Given the description of an element on the screen output the (x, y) to click on. 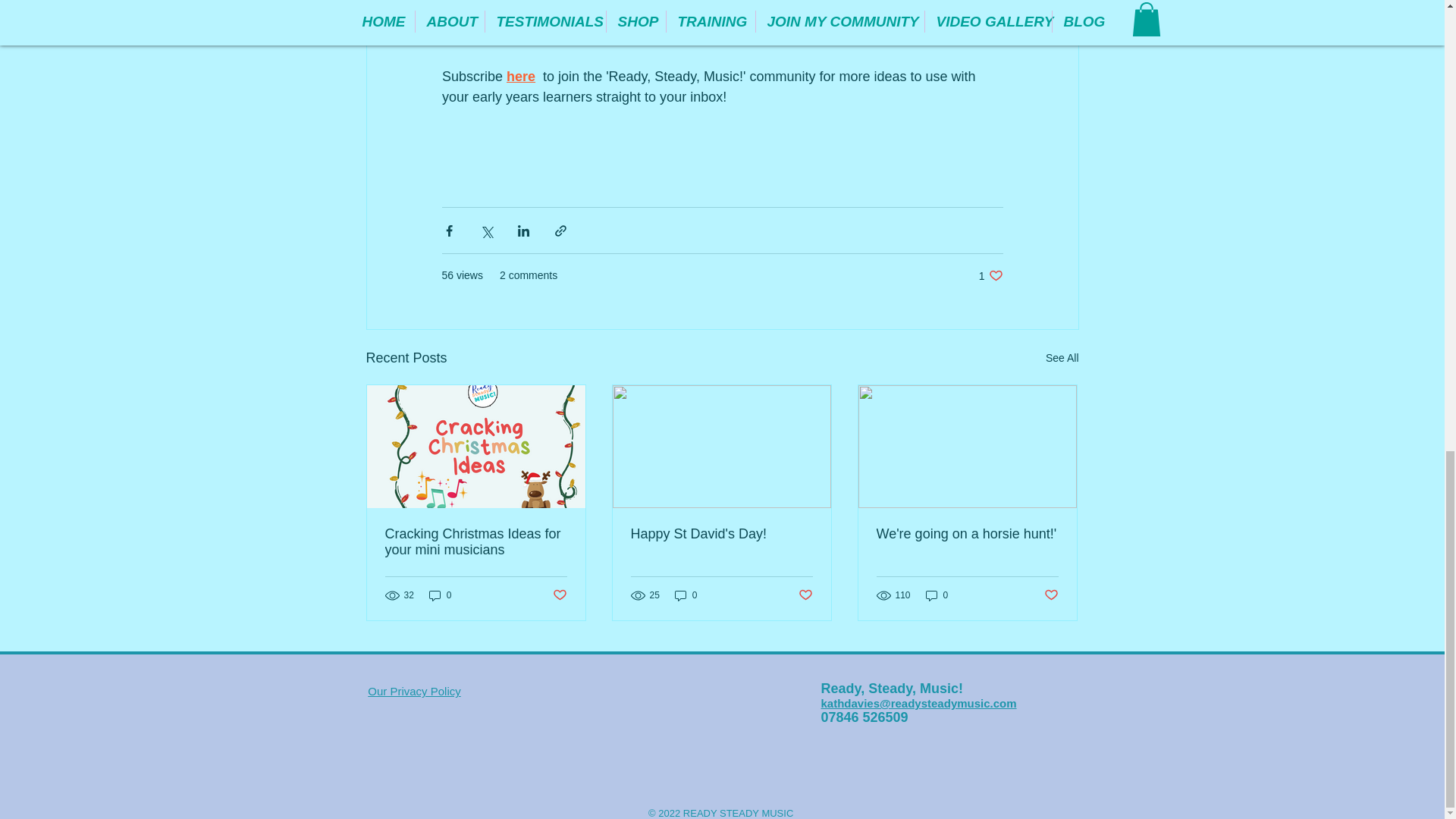
See All (1061, 358)
0 (440, 595)
Post not marked as liked (558, 595)
here (520, 76)
Facebook (866, 35)
Cracking Christmas Ideas for your mini musicians (476, 541)
Instagram (781, 35)
